Given the description of an element on the screen output the (x, y) to click on. 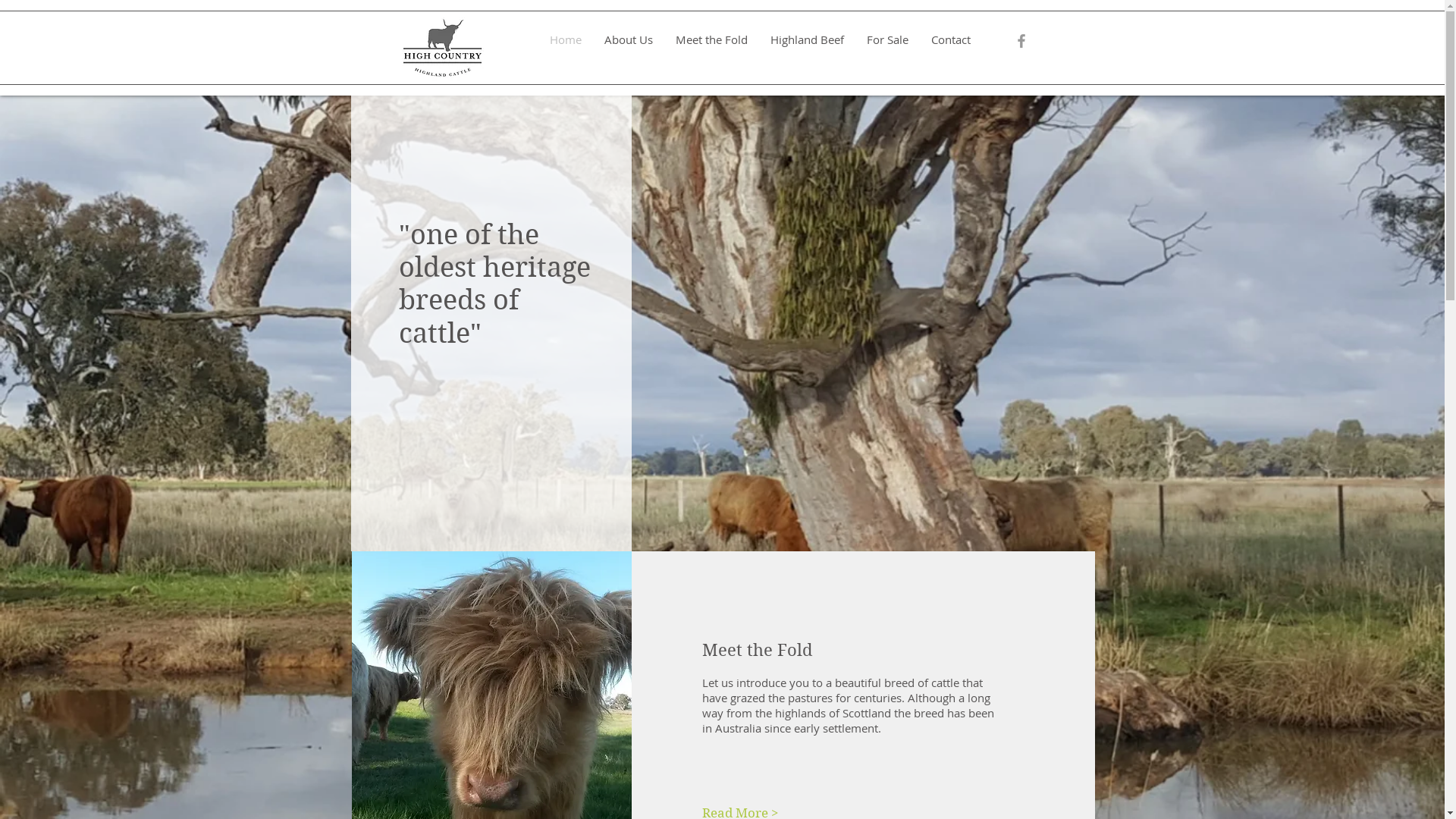
For Sale Element type: text (887, 39)
Meet the Fold Element type: text (711, 39)
About Us Element type: text (628, 39)
Contact Element type: text (950, 39)
Home Element type: text (565, 39)
Highland Beef Element type: text (806, 39)
